Given the description of an element on the screen output the (x, y) to click on. 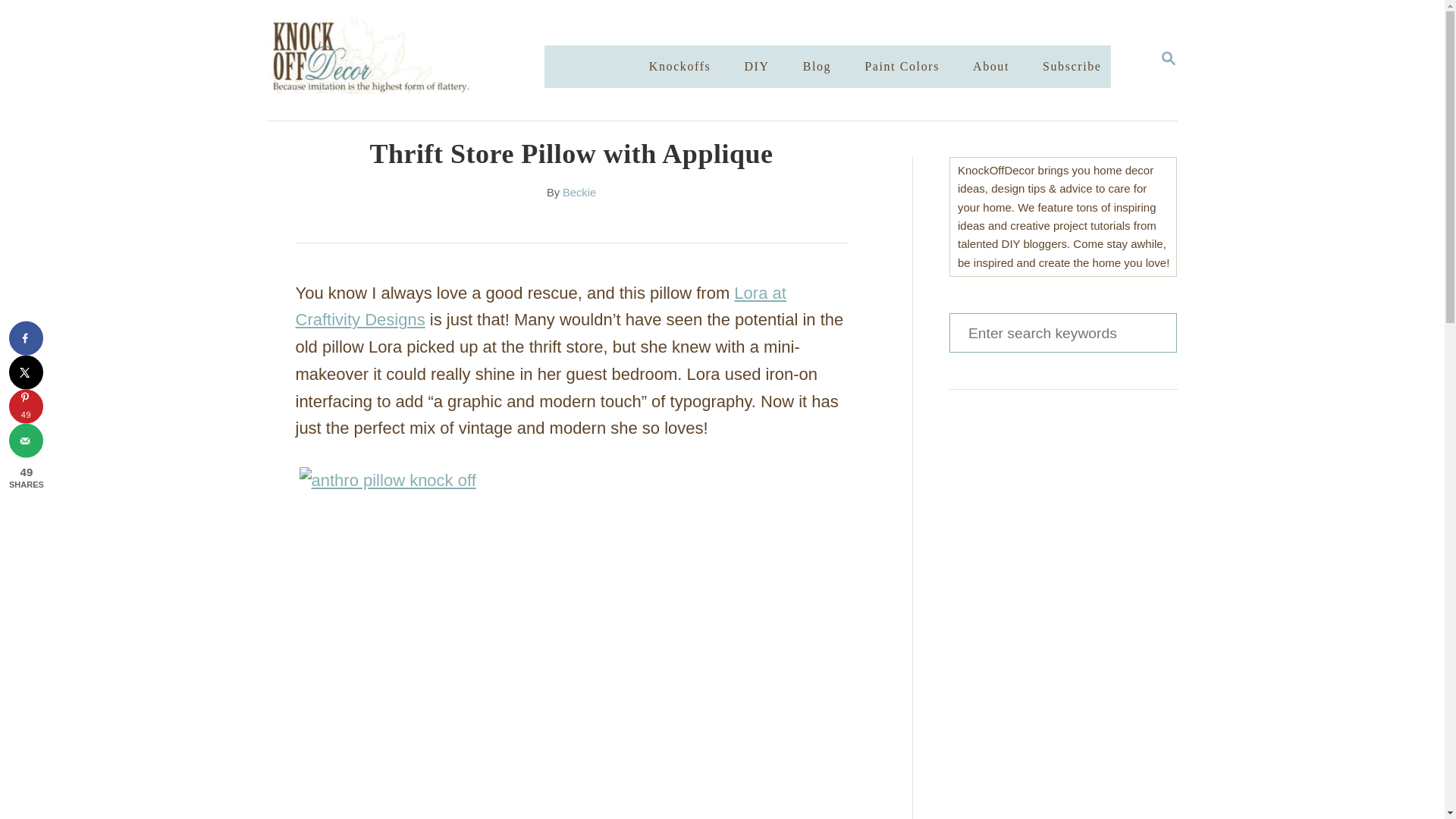
DIY (756, 66)
Share on X (1167, 59)
Search for: (25, 372)
About (1062, 332)
Beckie (990, 66)
Subscribe (578, 192)
Share on Facebook (1071, 66)
Paint Colors (25, 338)
Send over email (902, 66)
